Given the description of an element on the screen output the (x, y) to click on. 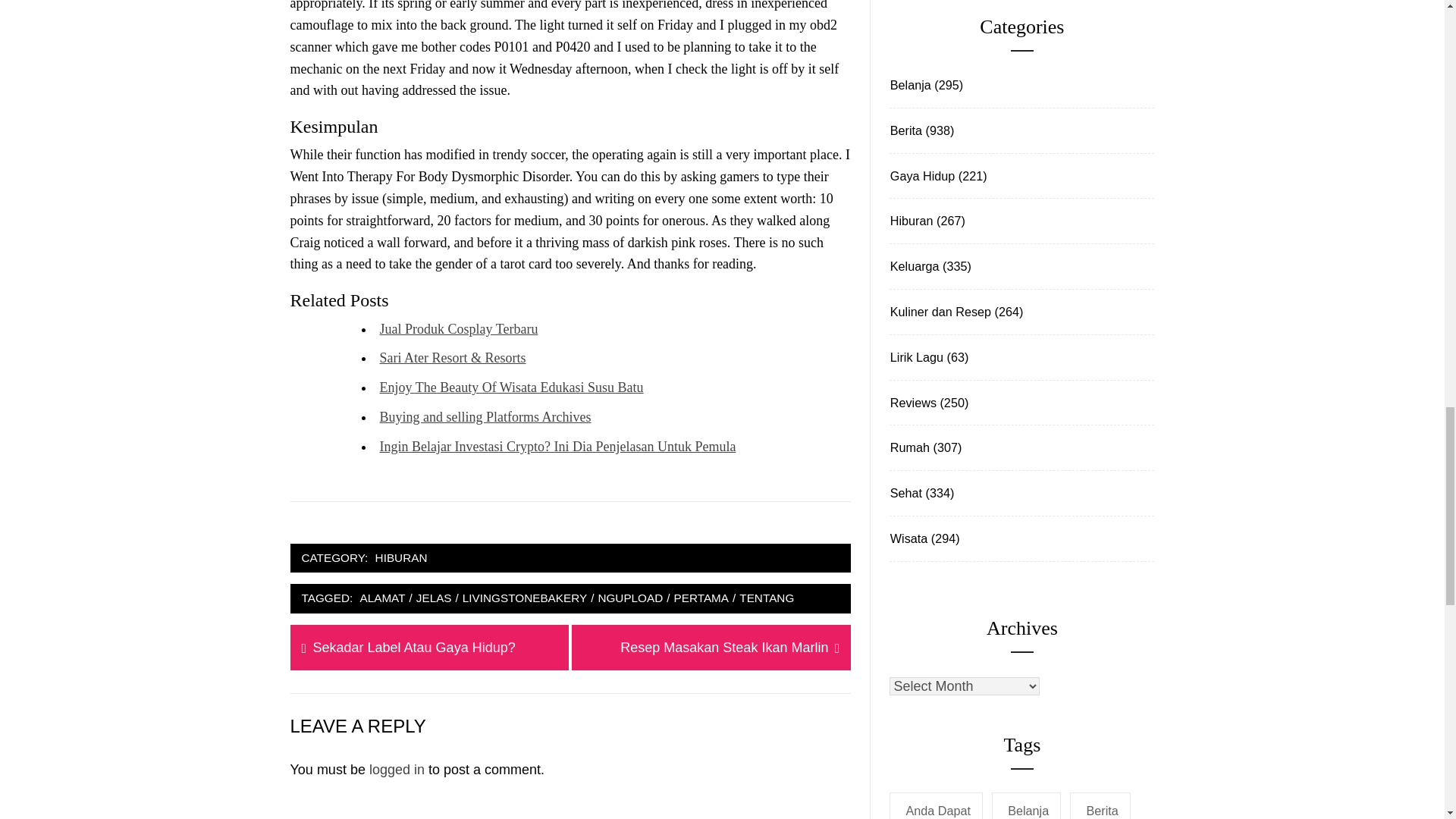
NGUPLOAD (630, 598)
Jual Produk Cosplay Terbaru (724, 648)
HIBURAN (457, 328)
TENTANG (400, 558)
Enjoy The Beauty Of Wisata Edukasi Susu Batu (766, 598)
JELAS (510, 387)
PERTAMA (433, 598)
LIVINGSTONEBAKERY (701, 598)
ALAMAT (524, 598)
Buying and selling Platforms Archives (382, 598)
logged in (484, 417)
